Given the description of an element on the screen output the (x, y) to click on. 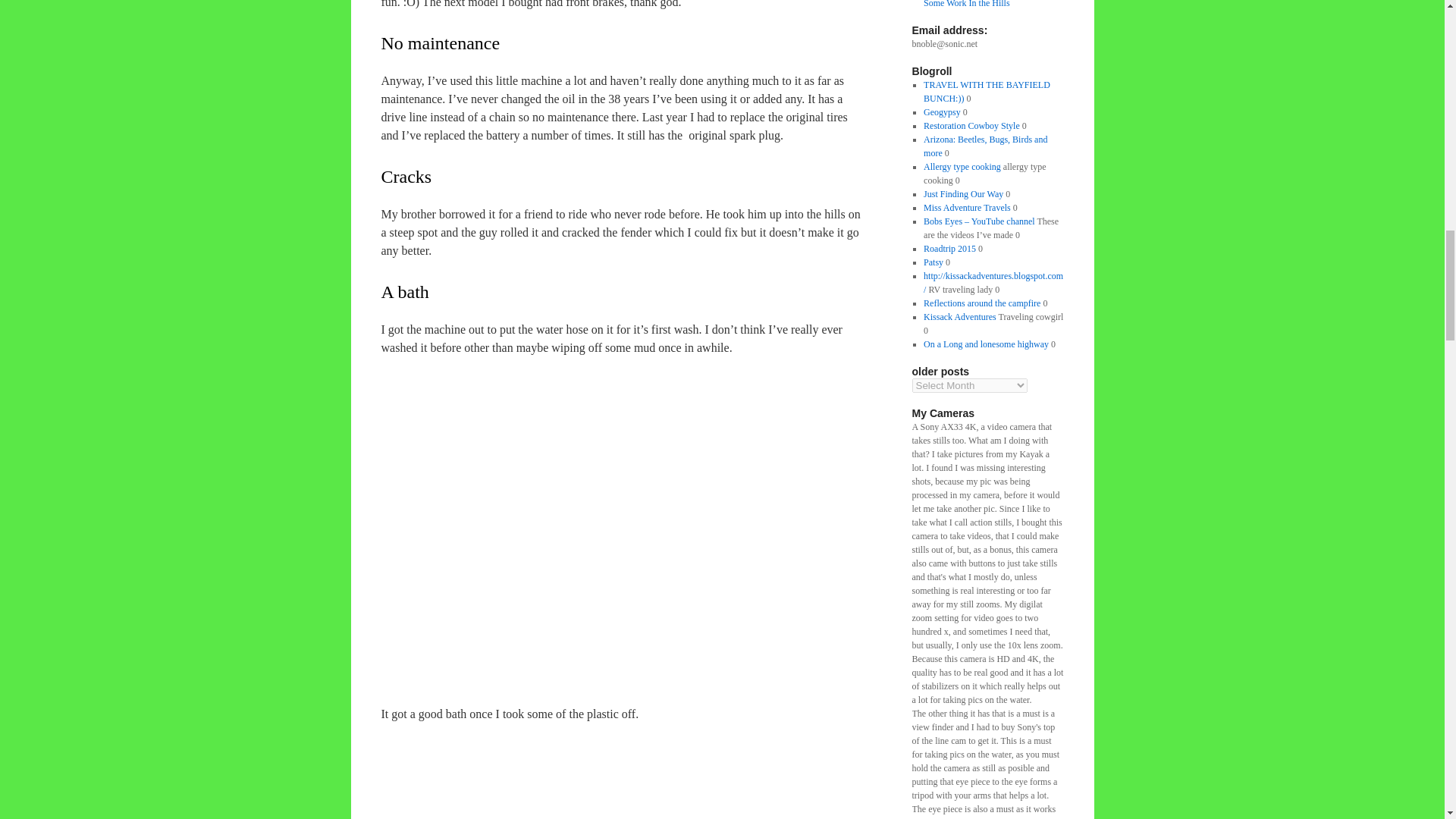
RV traveling lady (992, 282)
Traveling cowgirl (959, 317)
allergy type cooking (962, 166)
washed (630, 771)
